Given the description of an element on the screen output the (x, y) to click on. 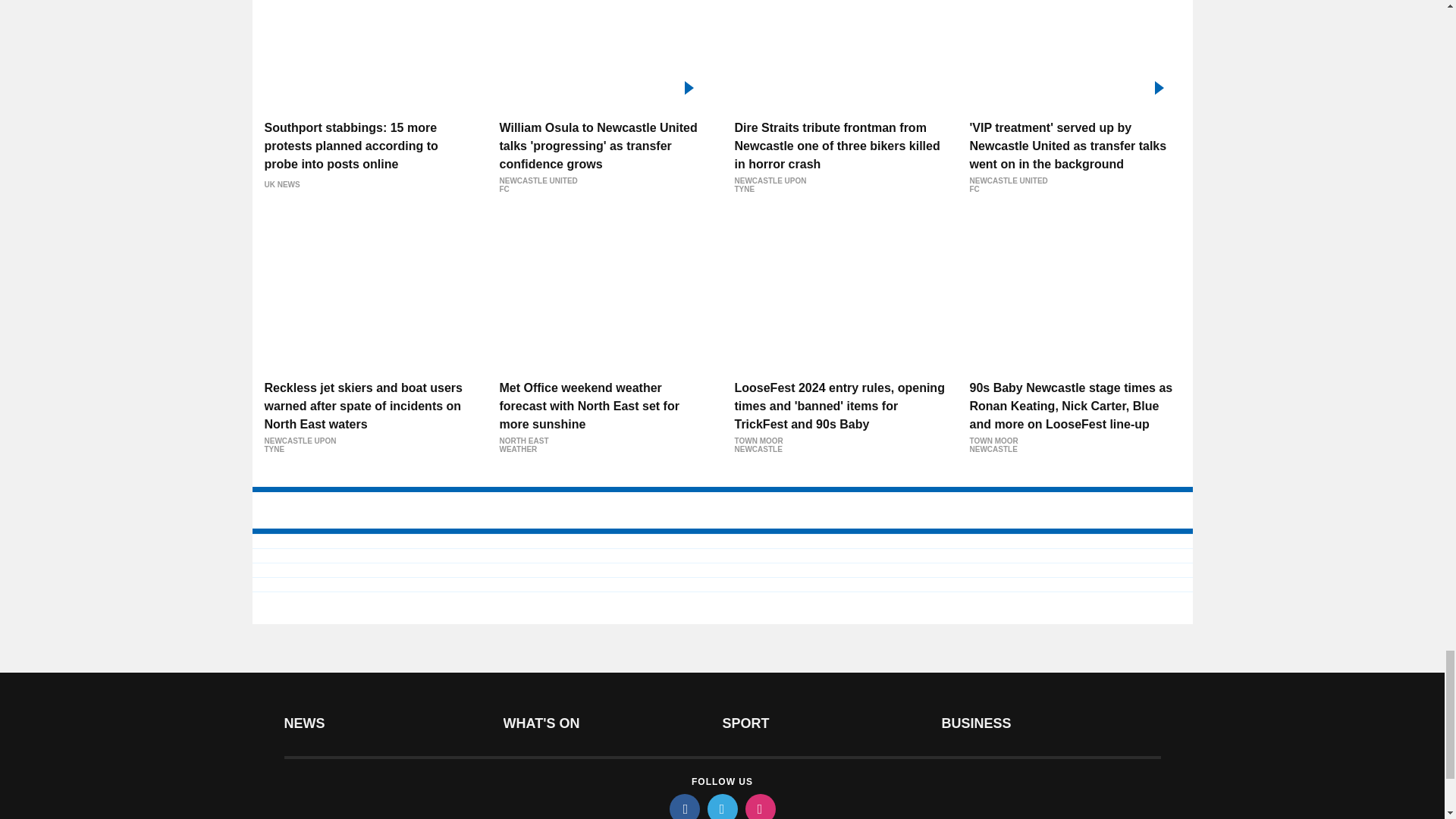
twitter (721, 806)
facebook (683, 806)
instagram (759, 806)
